Given the description of an element on the screen output the (x, y) to click on. 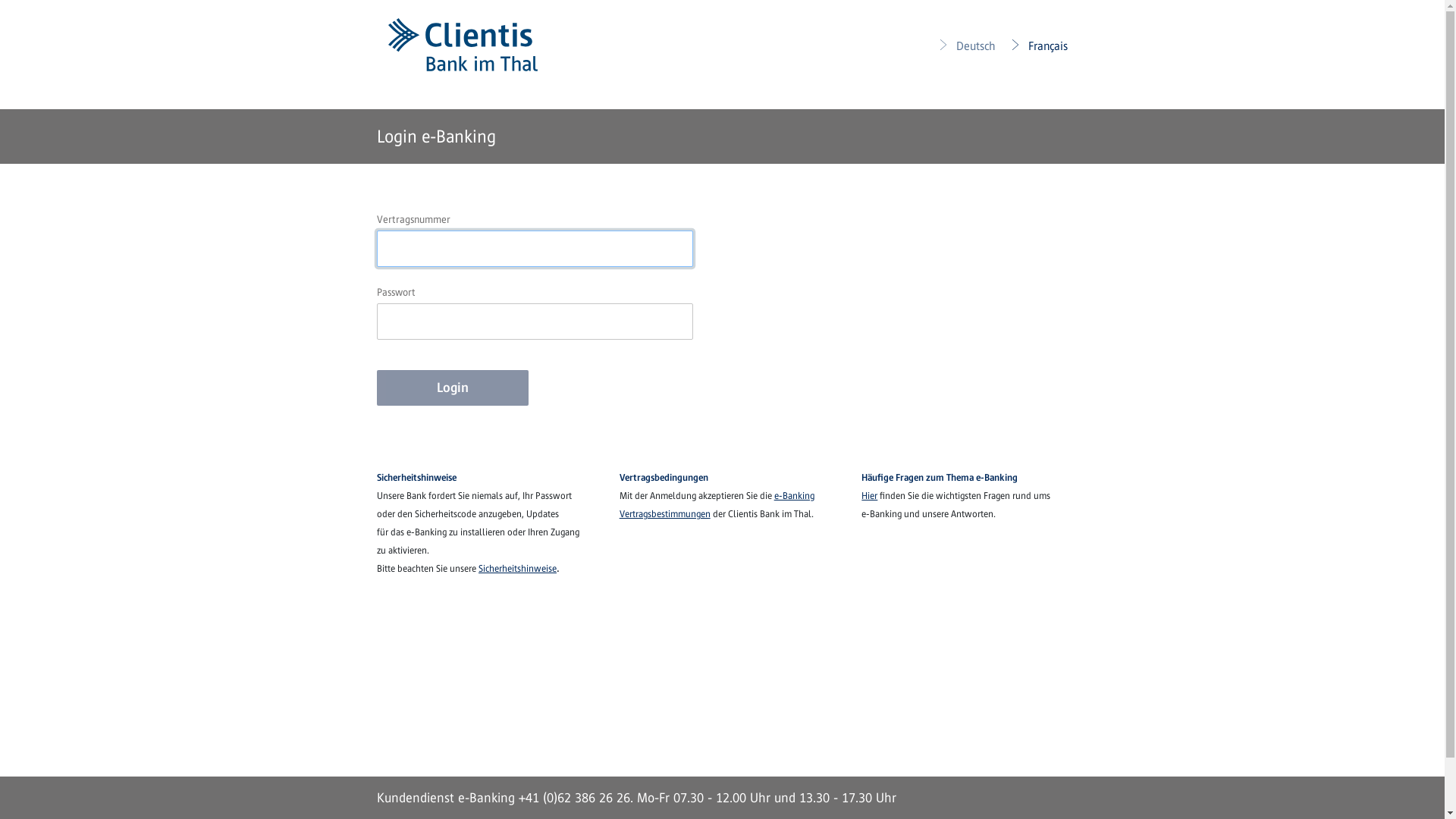
Sicherheitshinweise Element type: text (517, 567)
Deutsch Element type: text (966, 45)
Hier Element type: text (869, 495)
e-Banking Vertragsbestimmungen Element type: text (716, 504)
Login Element type: text (452, 387)
